Given the description of an element on the screen output the (x, y) to click on. 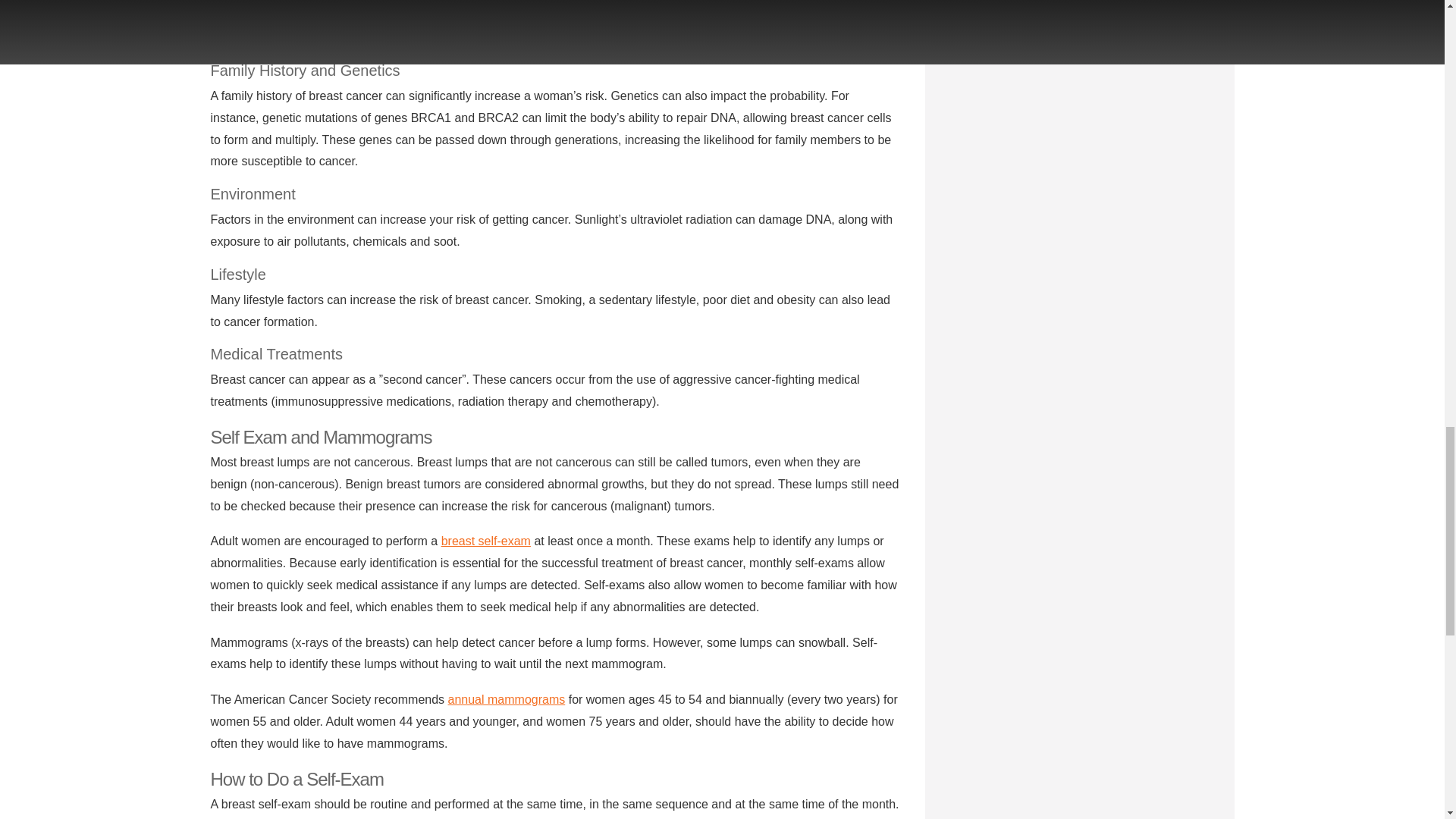
annual mammograms (507, 698)
breast self-exam (486, 540)
